Given the description of an element on the screen output the (x, y) to click on. 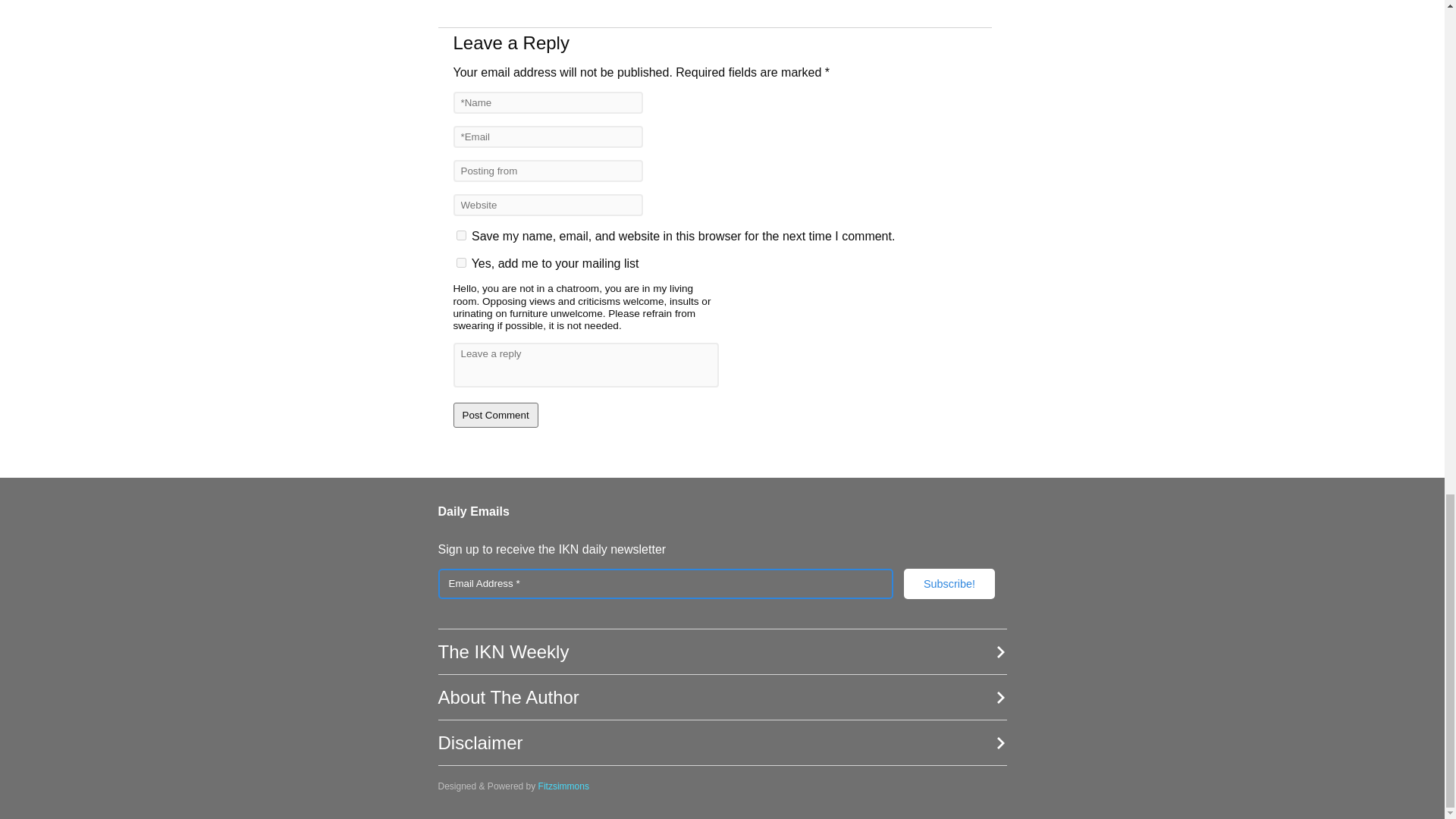
Fitzsimmons (563, 786)
Post Comment (495, 414)
Subscribe! (949, 583)
Post Comment (495, 414)
1 (461, 262)
About The Author (722, 697)
yes (461, 235)
Email Address (665, 583)
Subscribe! (949, 583)
